Given the description of an element on the screen output the (x, y) to click on. 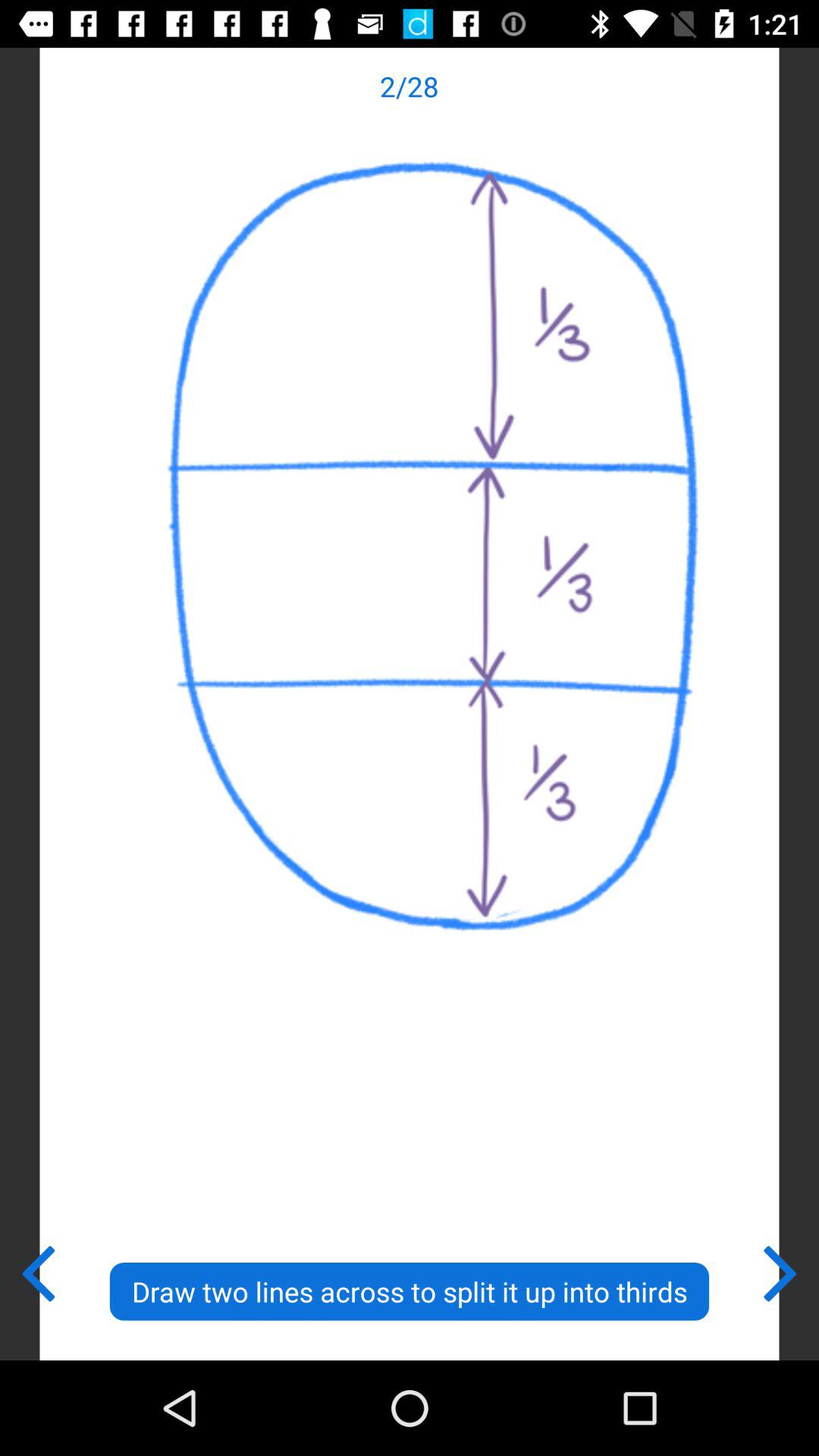
tap the item at the bottom right corner (781, 1270)
